Given the description of an element on the screen output the (x, y) to click on. 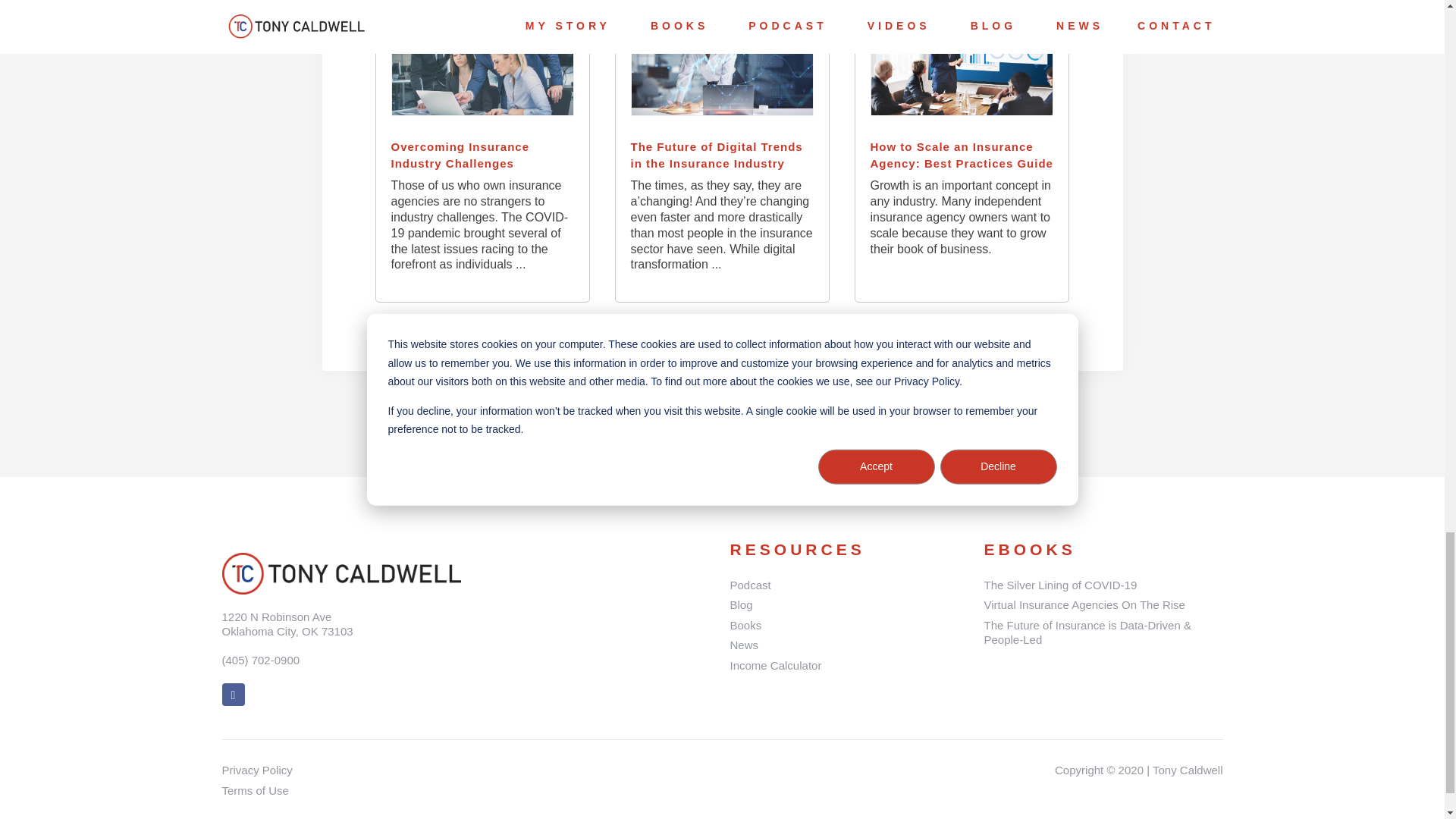
The Future of Digital Trends in the Insurance Industry (721, 155)
Blog (848, 604)
Podcast (848, 585)
Books (848, 625)
News (848, 645)
How to Scale an Insurance Agency: Best Practices Guide (962, 155)
RESOURCES (796, 548)
Income Calculator (848, 665)
Overcoming Insurance Industry Challenges (483, 155)
